Given the description of an element on the screen output the (x, y) to click on. 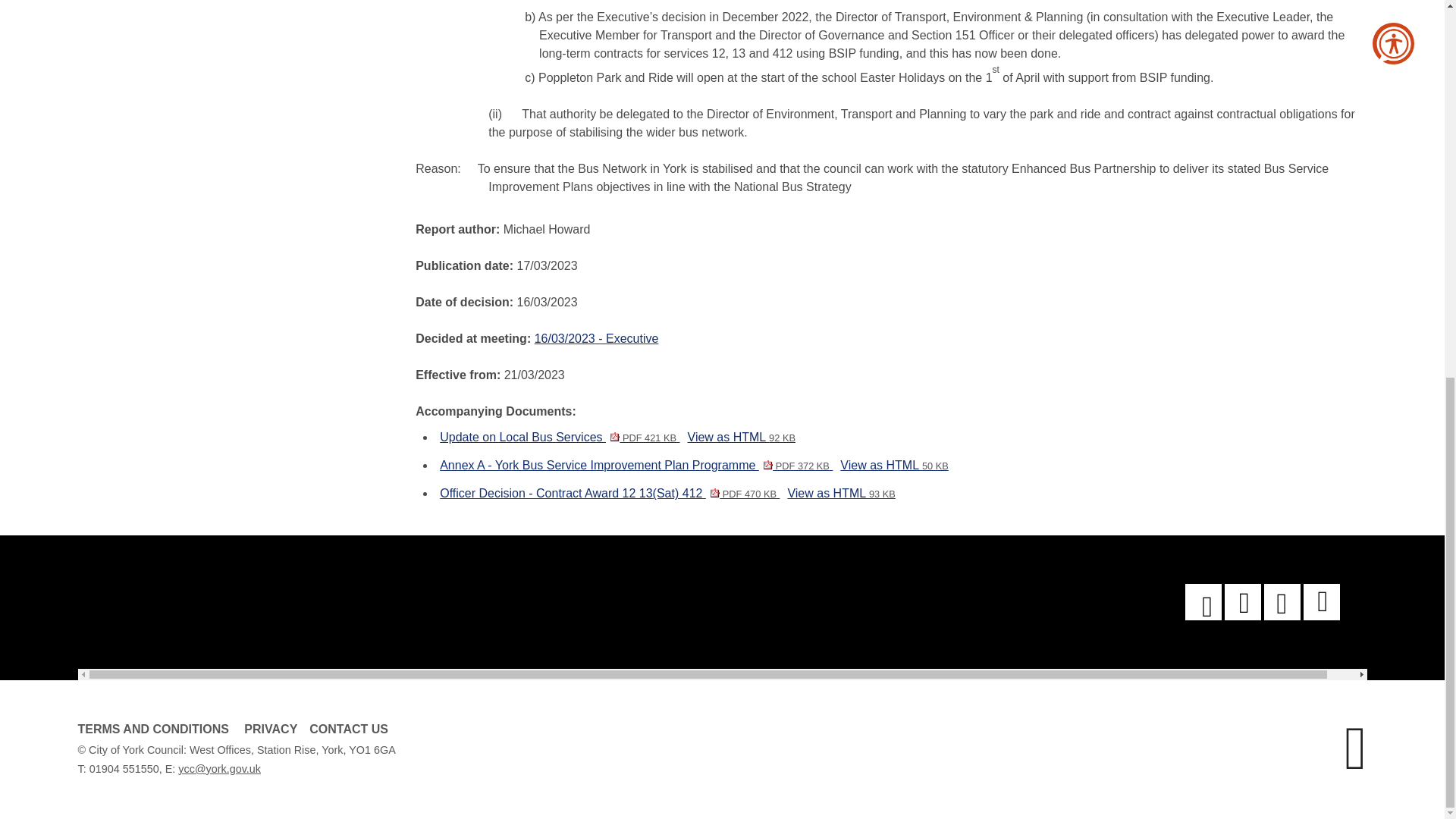
Flickr (1321, 601)
Link to Update on Local Bus Services html file (740, 436)
Update on Local Bus Services PDF 421 KB (559, 436)
TERMS AND CONDITIONS (152, 728)
You Tube (1242, 601)
Twitter (1281, 601)
Facebook (1203, 601)
Link to file Update on Local Bus Services (559, 436)
